Given the description of an element on the screen output the (x, y) to click on. 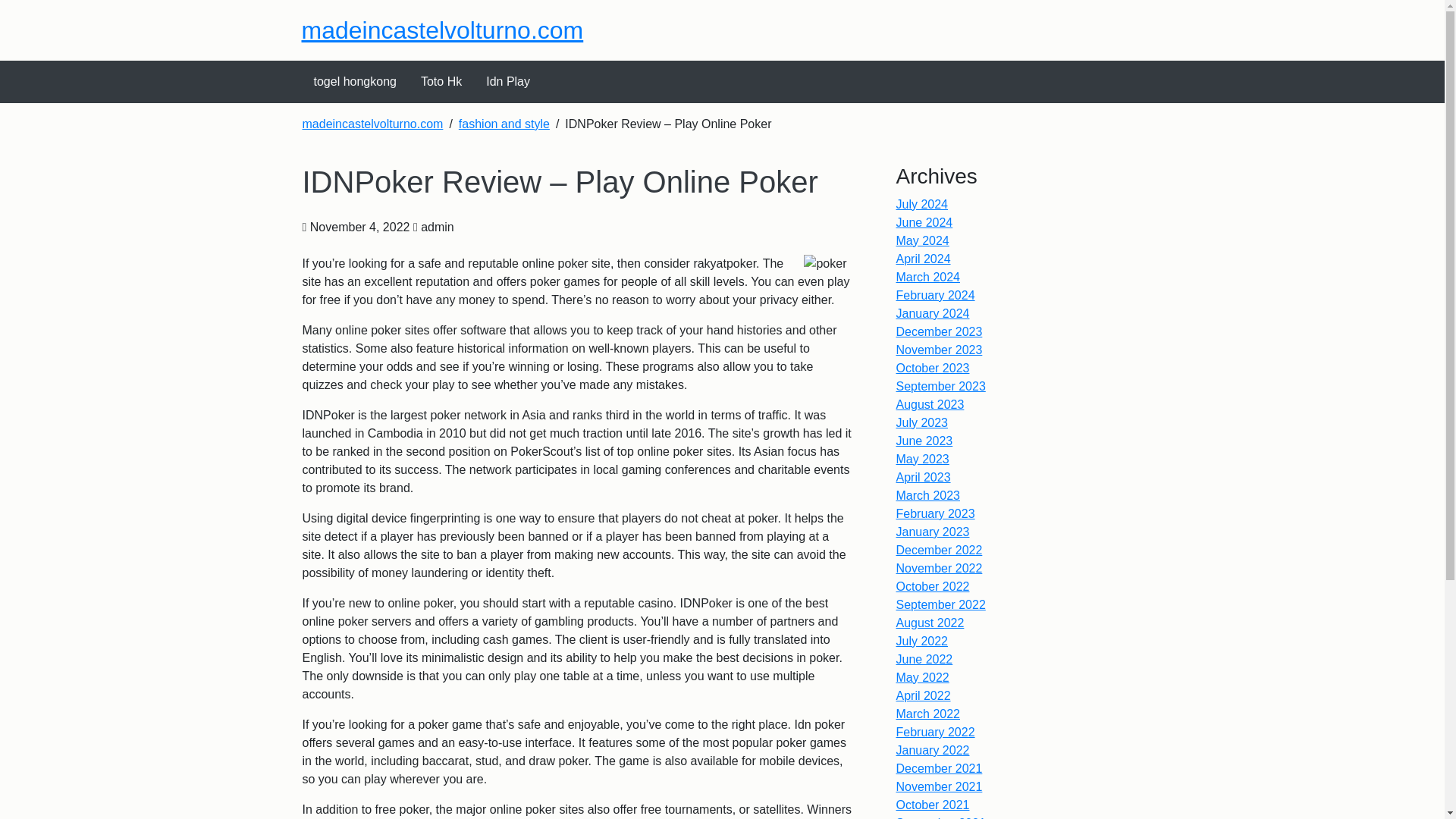
madeincastelvolturno.com (371, 123)
November 2023 (939, 349)
December 2022 (939, 549)
November 2022 (939, 567)
September 2022 (940, 604)
December 2023 (939, 331)
Toto Hk (441, 81)
March 2023 (928, 495)
April 2024 (923, 258)
togel hongkong (355, 81)
June 2022 (924, 658)
January 2024 (932, 313)
May 2024 (922, 240)
January 2023 (932, 531)
April 2023 (923, 477)
